Given the description of an element on the screen output the (x, y) to click on. 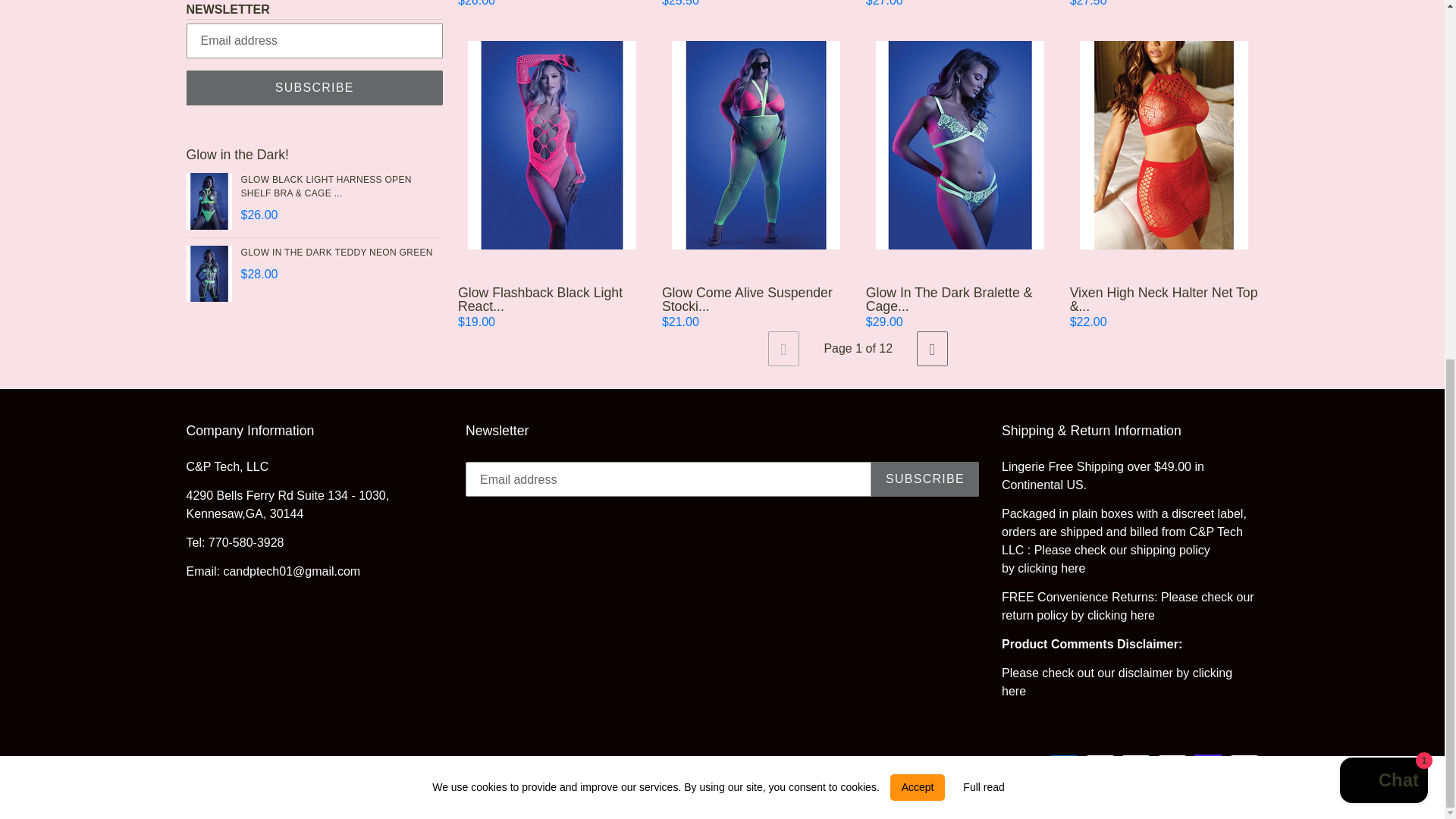
Mastercard (1171, 763)
American Express (1063, 763)
Visa (1244, 763)
Shop Pay (1208, 763)
Diners Club (1100, 763)
Discover (1135, 763)
